Given the description of an element on the screen output the (x, y) to click on. 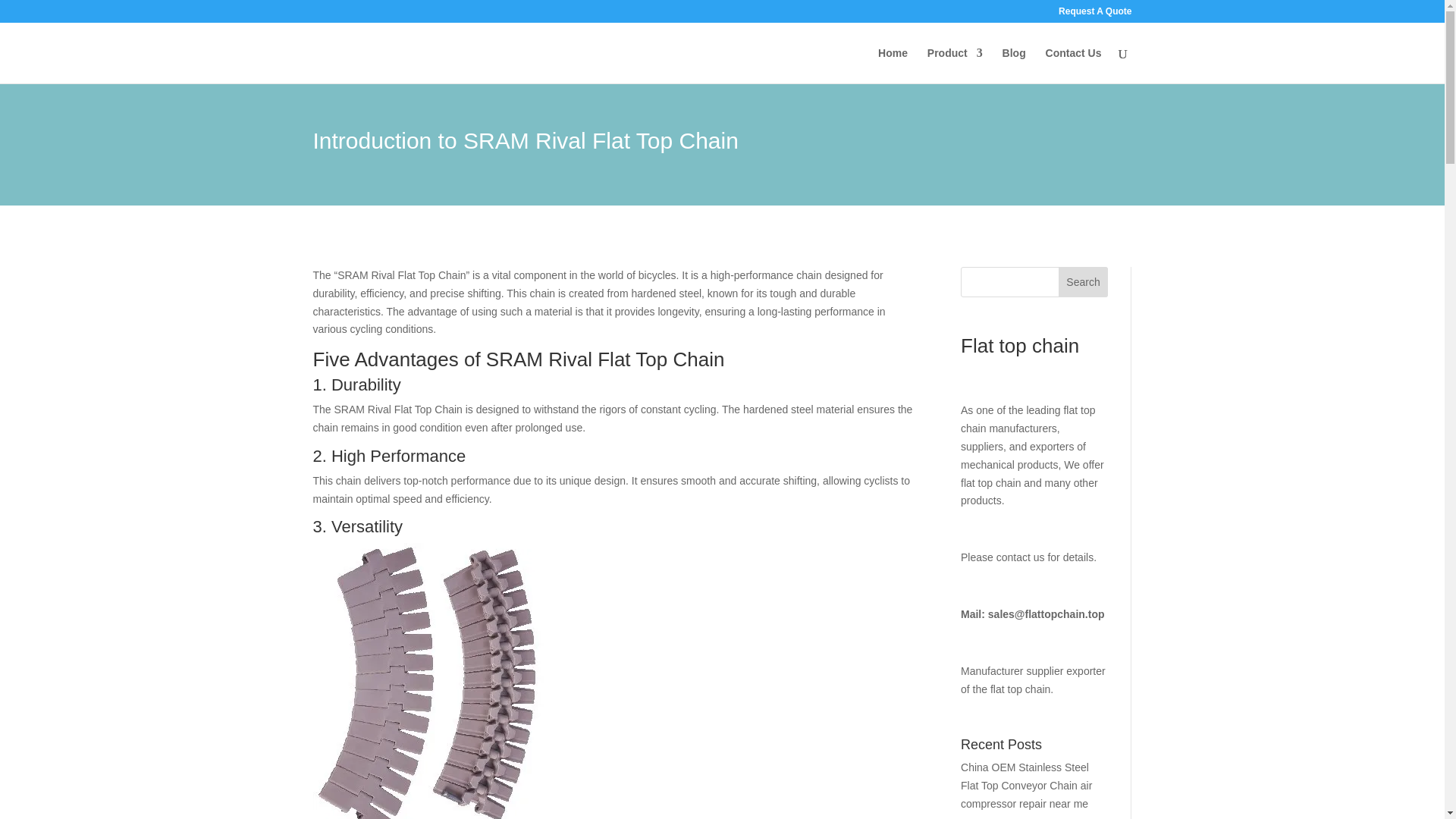
Contact Us (1073, 65)
Search (1083, 281)
Product (954, 65)
Search (1083, 281)
Request A Quote (1094, 14)
